Given the description of an element on the screen output the (x, y) to click on. 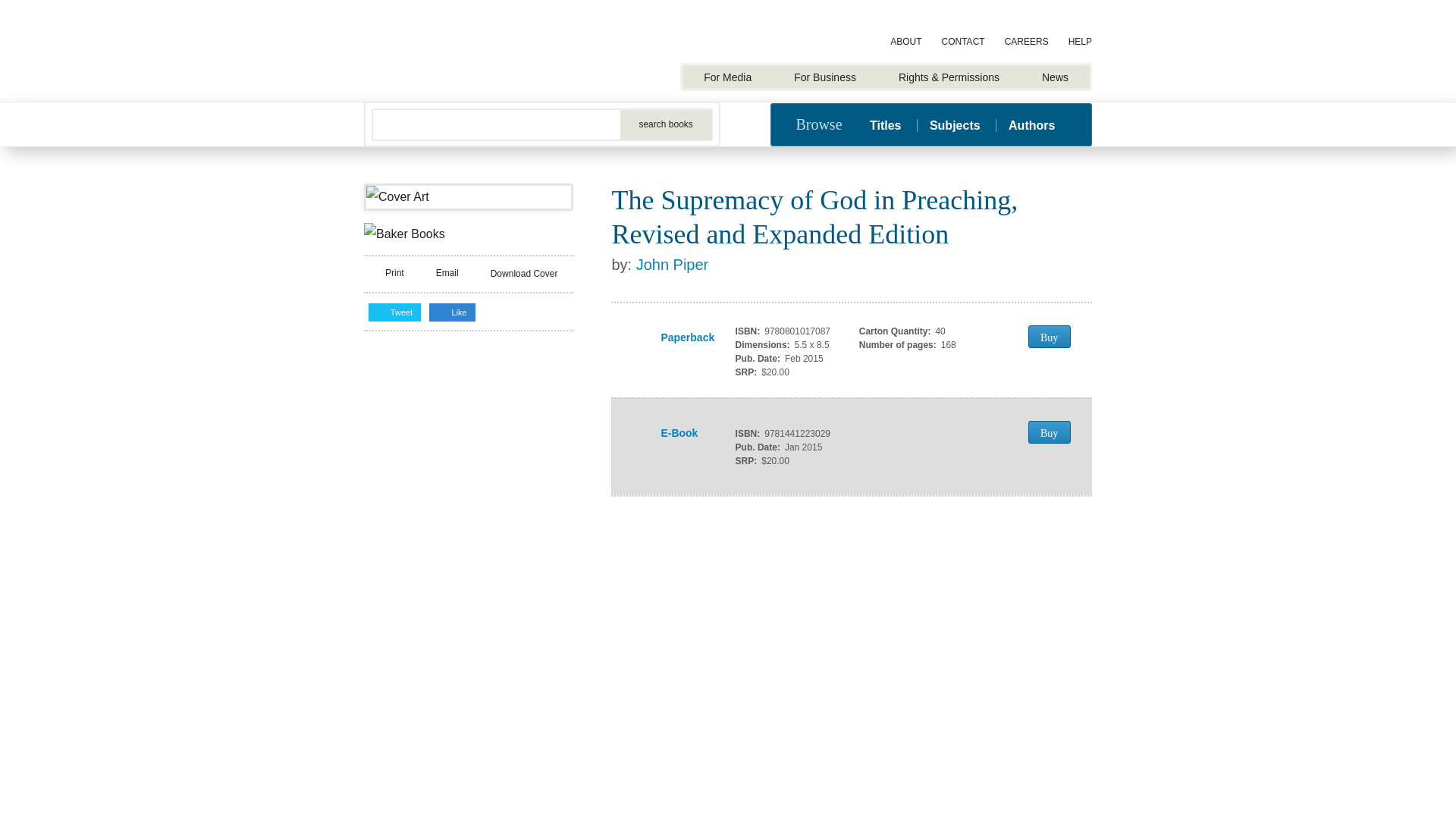
CONTACT (963, 41)
John Piper (672, 264)
Email (438, 273)
ABOUT (905, 41)
Download Cover (515, 273)
E-Book (665, 433)
Buy (1048, 431)
Authors (1031, 124)
CAREERS (1026, 41)
Search Books (665, 124)
News (1054, 76)
Search Books (665, 124)
Paperback (665, 337)
Subjects (954, 124)
Tweet (395, 312)
